Given the description of an element on the screen output the (x, y) to click on. 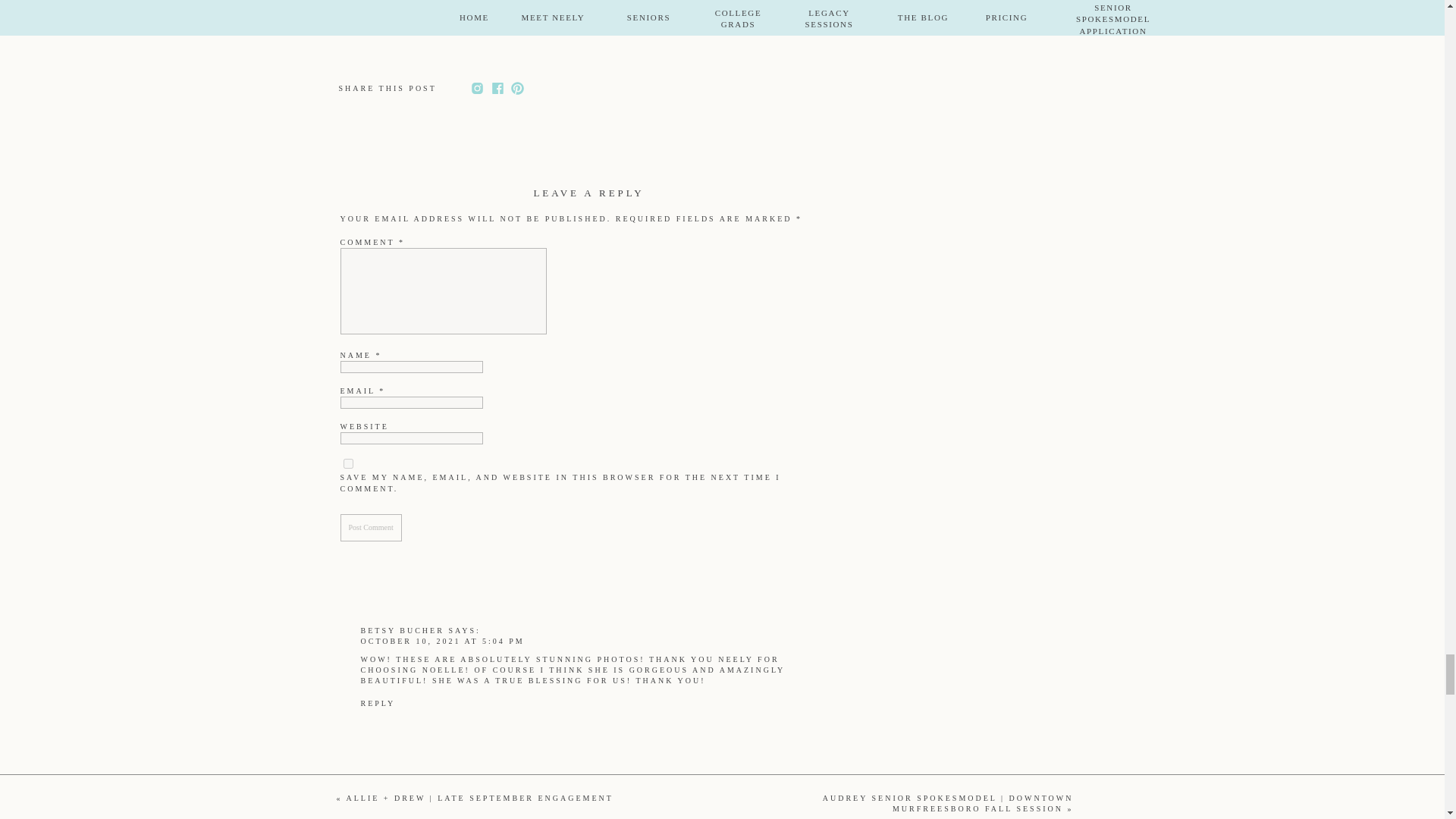
yes (347, 463)
Post Comment (370, 527)
REPLY (378, 703)
OCTOBER 10, 2021 AT 5:04 PM (442, 641)
Post Comment (370, 527)
